Given the description of an element on the screen output the (x, y) to click on. 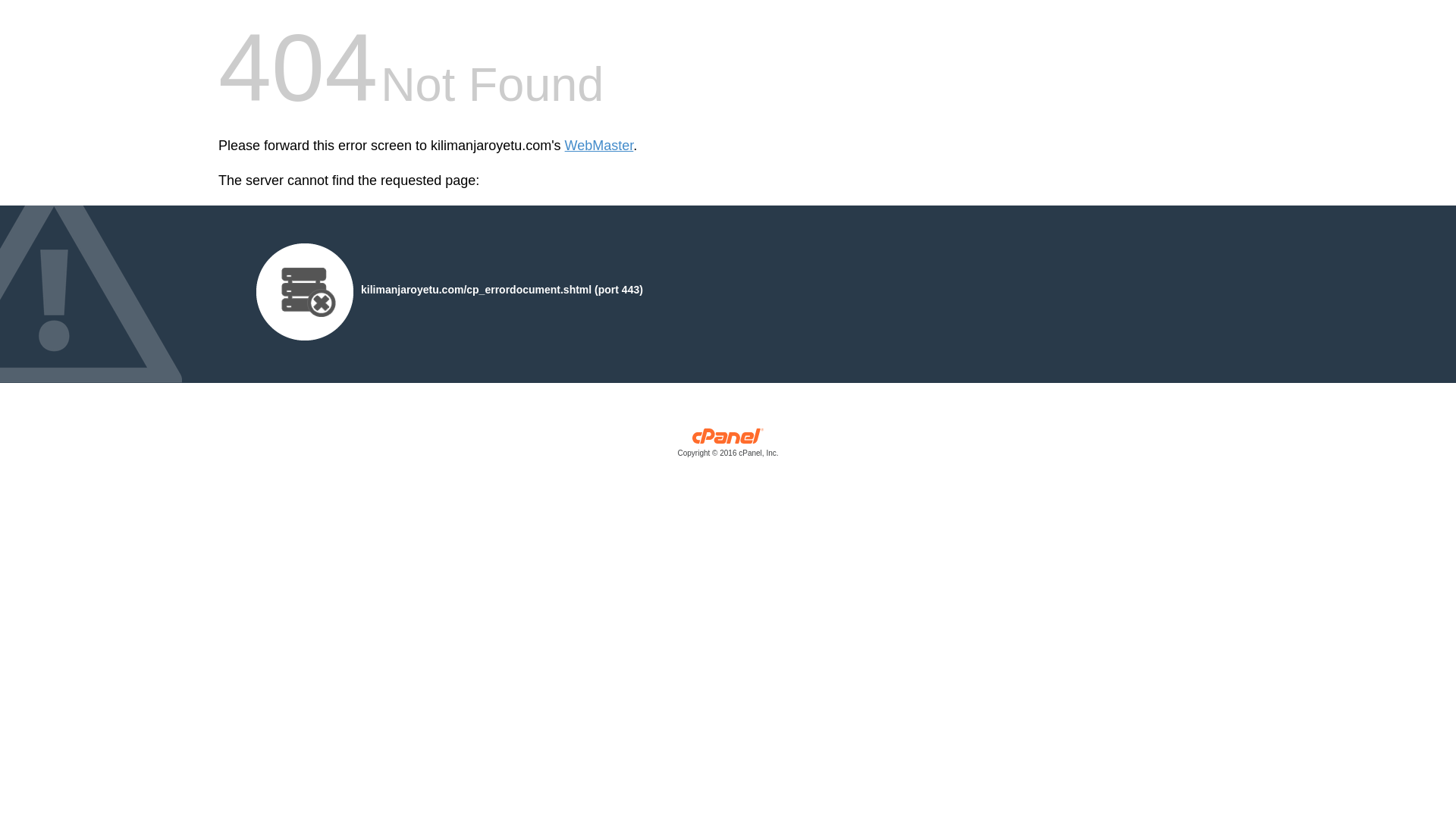
WebMaster (598, 145)
cPanel, Inc. (727, 446)
